Given the description of an element on the screen output the (x, y) to click on. 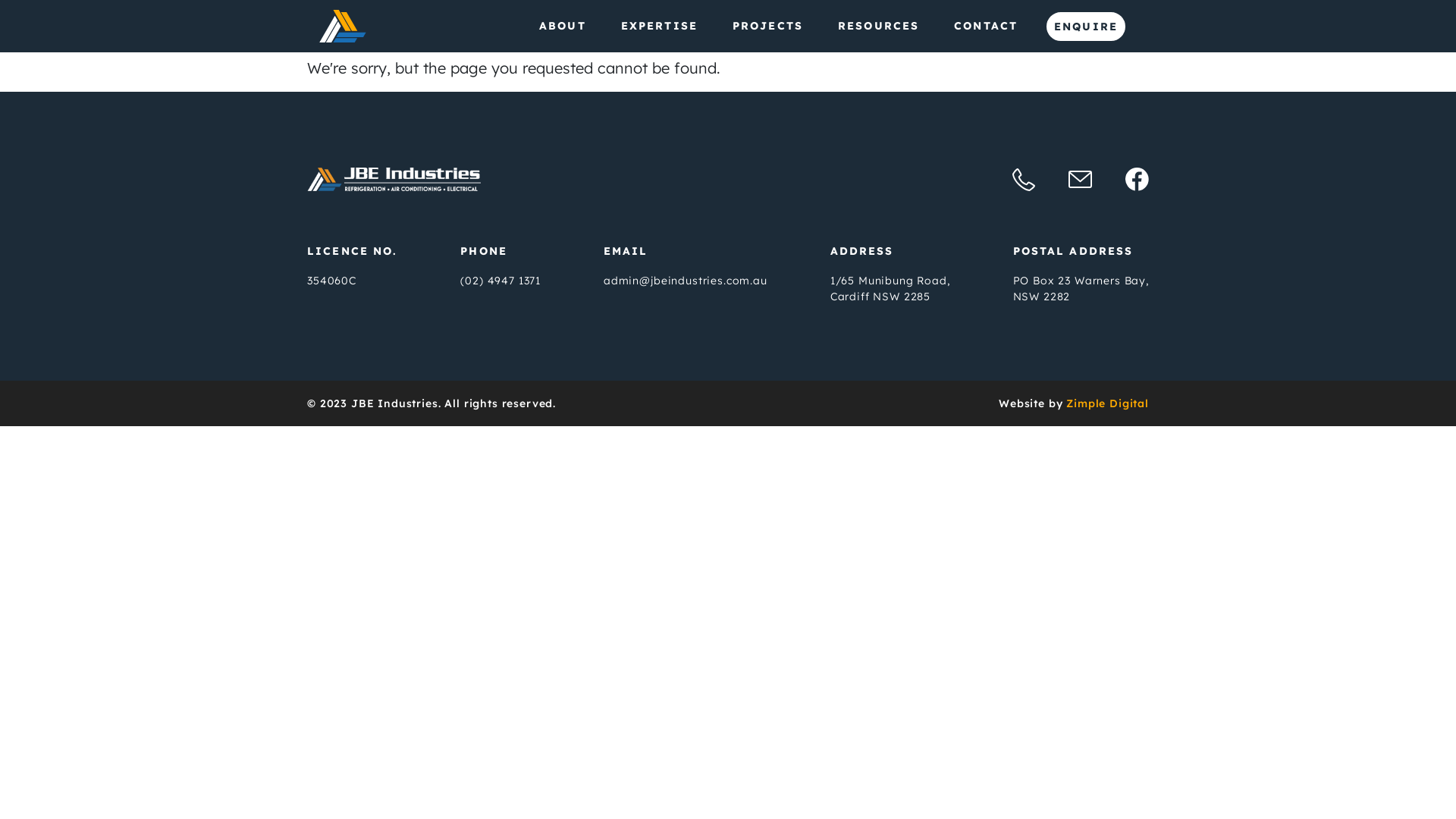
RESOURCES Element type: text (878, 26)
Website by Zimple Digital Element type: text (1073, 403)
CONTACT Element type: text (985, 26)
EXPERTISE Element type: text (659, 26)
admin@jbeindustries.com.au Element type: text (685, 280)
PROJECTS Element type: text (767, 26)
ABOUT Element type: text (562, 26)
ENQUIRE Element type: text (1085, 26)
(02) 4947 1371 Element type: text (500, 280)
